Given the description of an element on the screen output the (x, y) to click on. 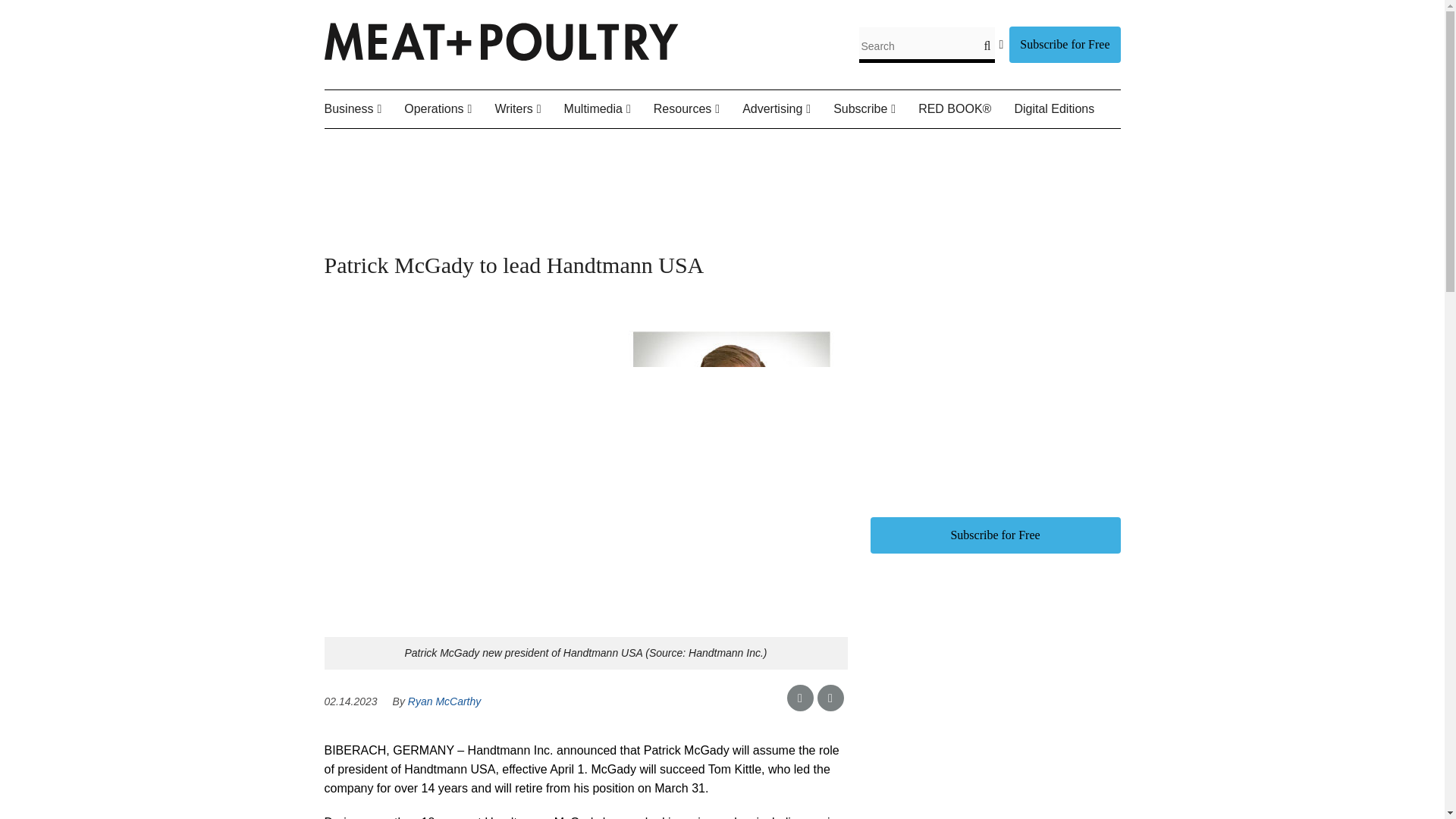
Companies (413, 144)
Operations (449, 109)
Joel Crews (577, 144)
Steve Krut (593, 144)
Food Safety (480, 144)
Ryan McCarthy (598, 144)
Business (364, 109)
Associations (407, 144)
Subscribe for Free (1064, 44)
Regulatory (488, 144)
